Given the description of an element on the screen output the (x, y) to click on. 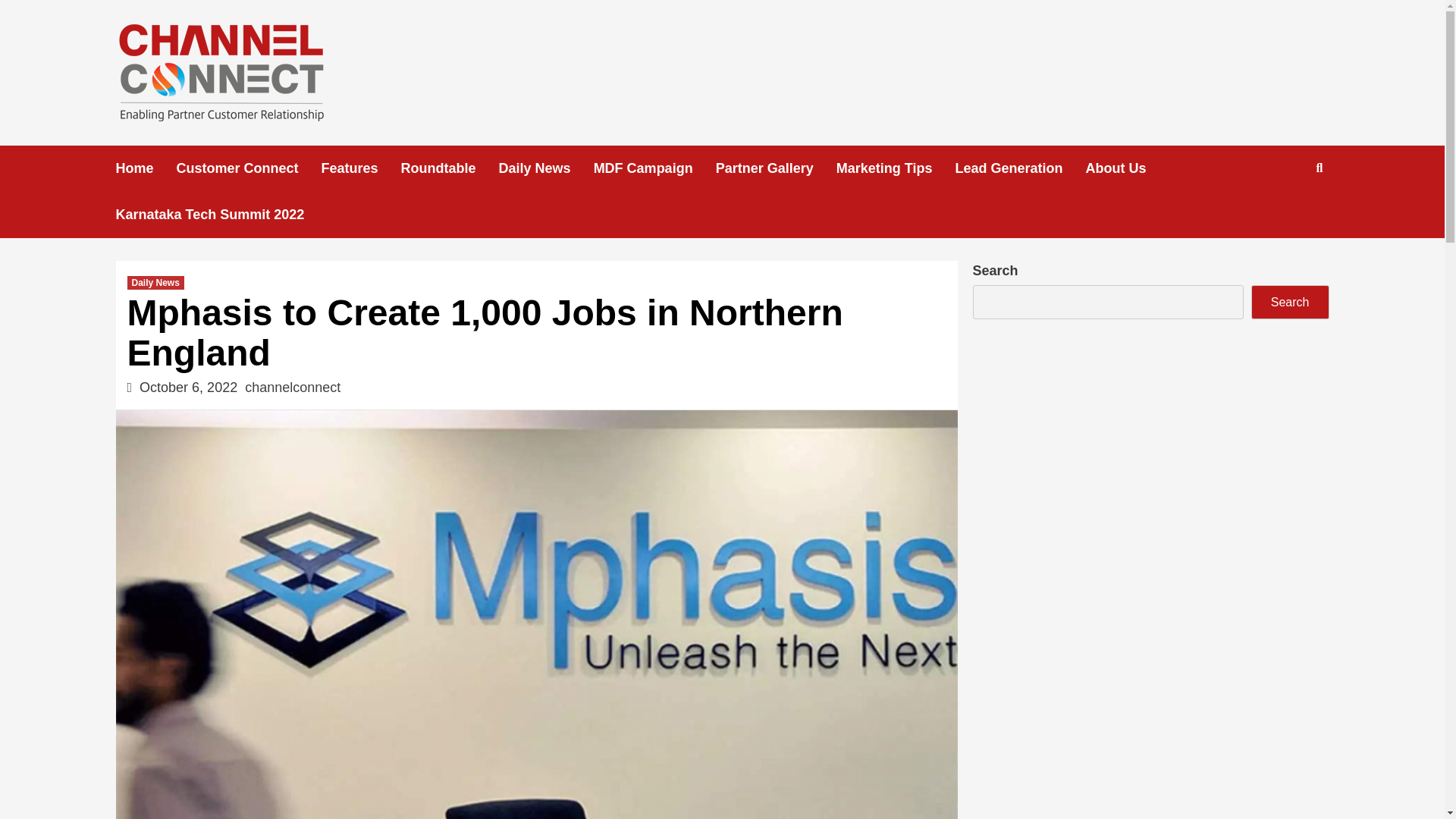
Customer Connect (248, 168)
Marketing Tips (895, 168)
Daily News (156, 282)
Roundtable (450, 168)
Lead Generation (1019, 168)
channelconnect (292, 387)
Partner Gallery (775, 168)
Features (361, 168)
Search (1283, 216)
About Us (1126, 168)
Home (145, 168)
Karnataka Tech Summit 2022 (220, 214)
Daily News (546, 168)
MDF Campaign (655, 168)
Search (1289, 302)
